Given the description of an element on the screen output the (x, y) to click on. 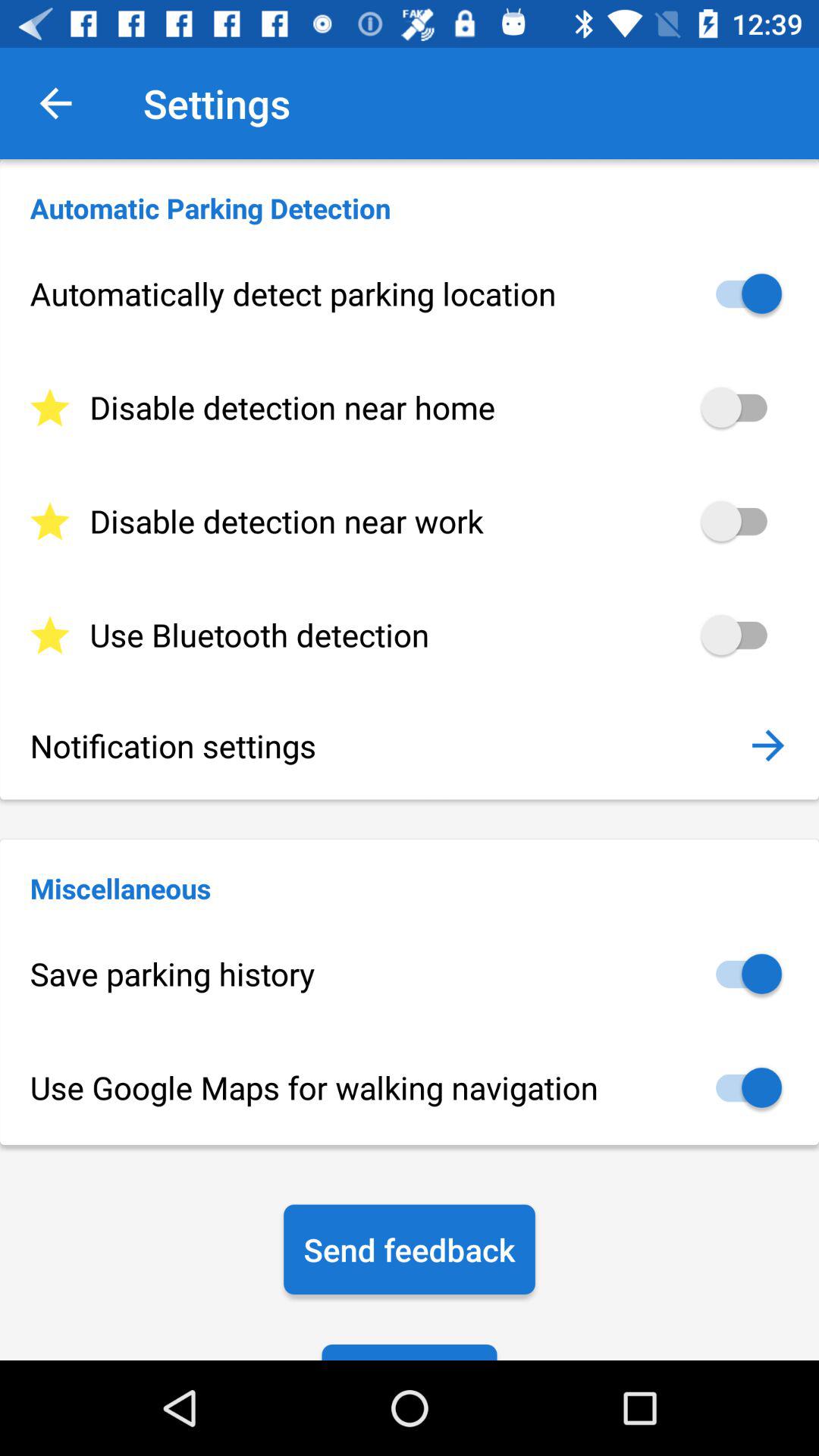
flip until the send feedback icon (409, 1249)
